Given the description of an element on the screen output the (x, y) to click on. 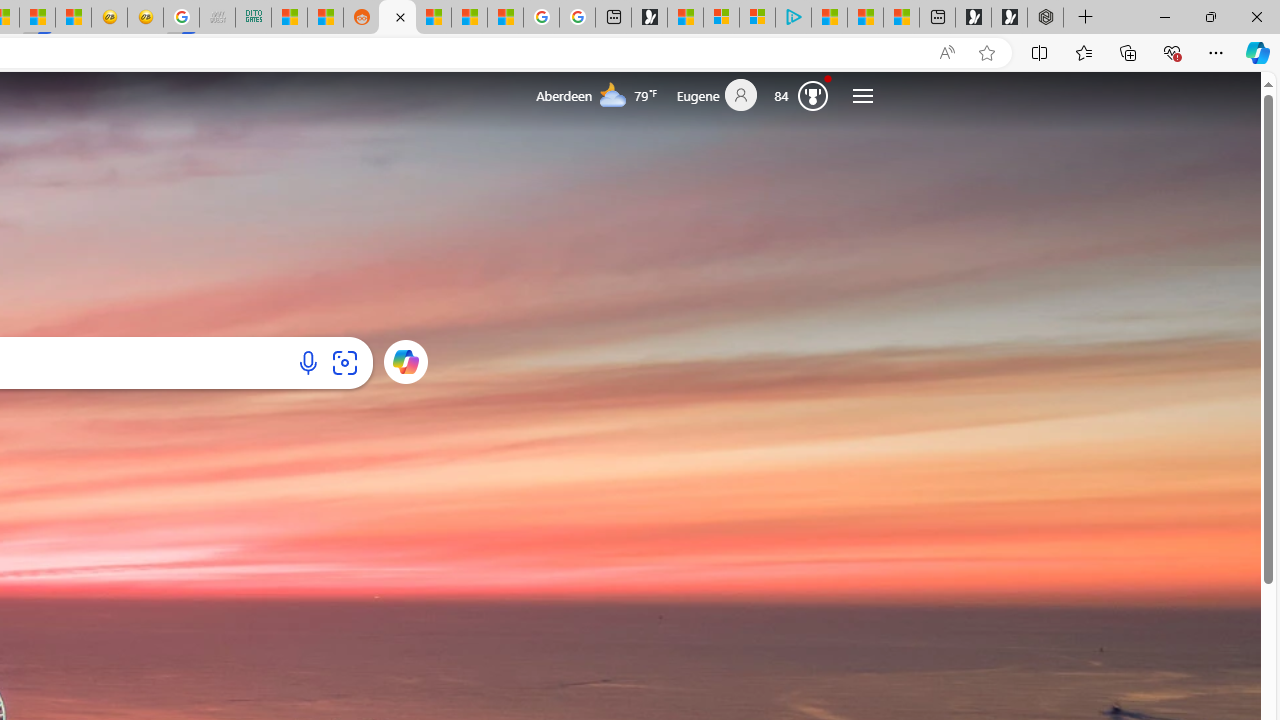
Settings and quick links (862, 95)
